Given the description of an element on the screen output the (x, y) to click on. 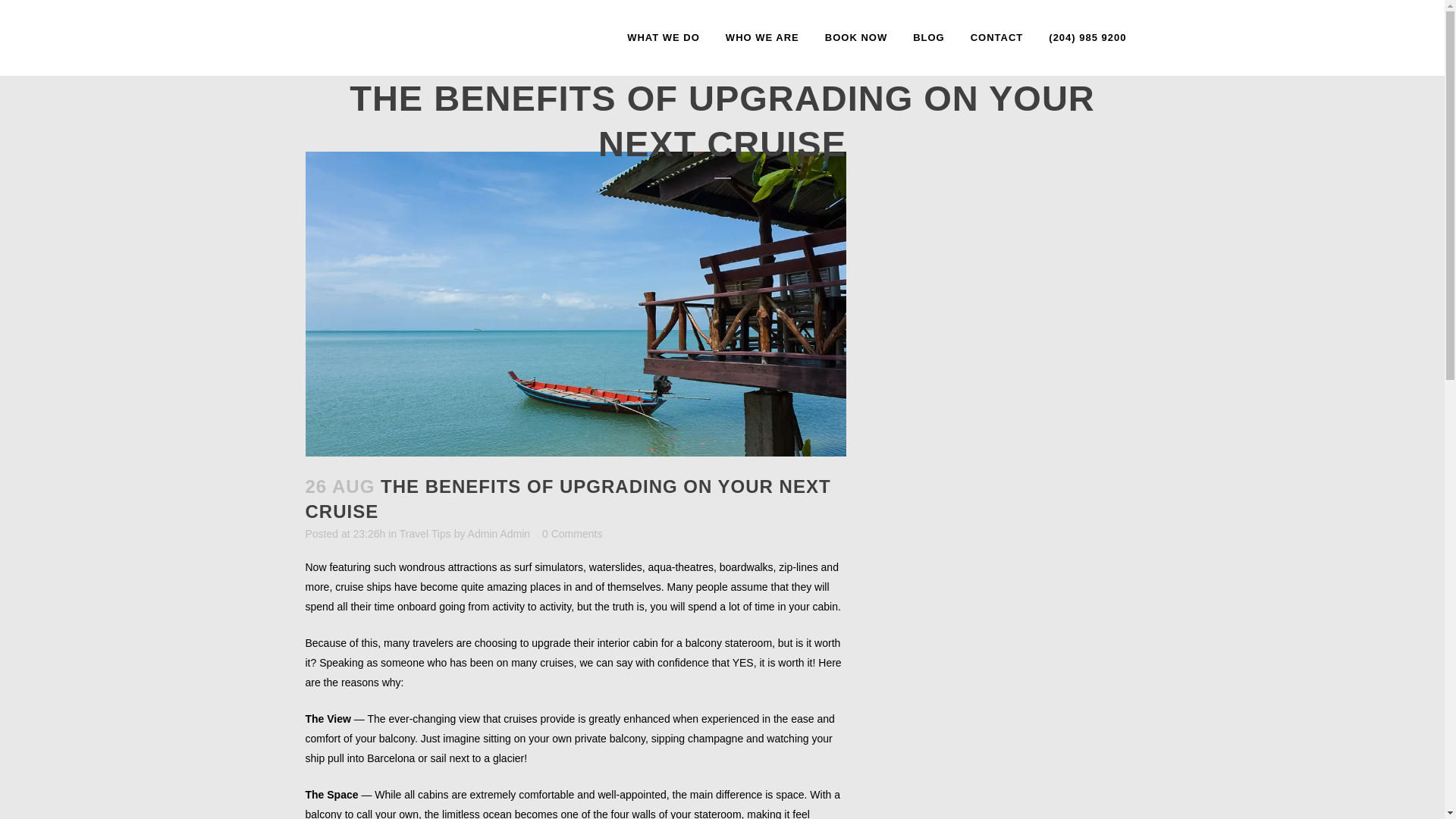
Admin Admin (498, 533)
BOOK NOW (855, 38)
WHAT WE DO (663, 38)
CONTACT (997, 38)
WHO WE ARE (762, 38)
Travel Tips (424, 533)
0 Comments (571, 533)
